Given the description of an element on the screen output the (x, y) to click on. 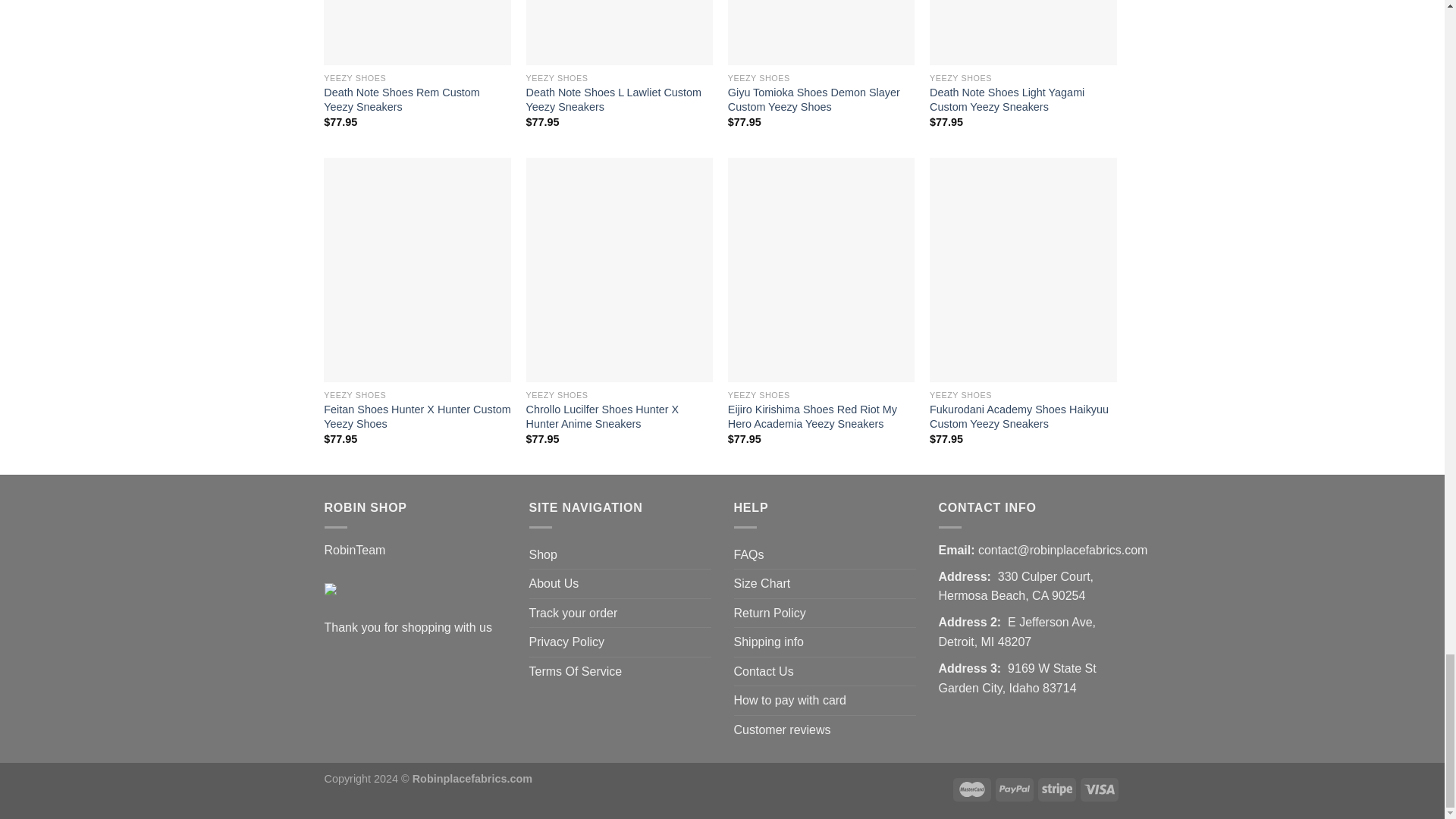
Death Note Shoes L Lawliet Custom Yeezy Sneakers (619, 33)
Death Note Shoes Light Yagami Custom Yeezy Sneakers (1023, 33)
Death Note Shoes Rem Custom Yeezy Sneakers (417, 33)
Giyu Tomioka Shoes Demon Slayer Custom Yeezy Shoes (821, 33)
